Given the description of an element on the screen output the (x, y) to click on. 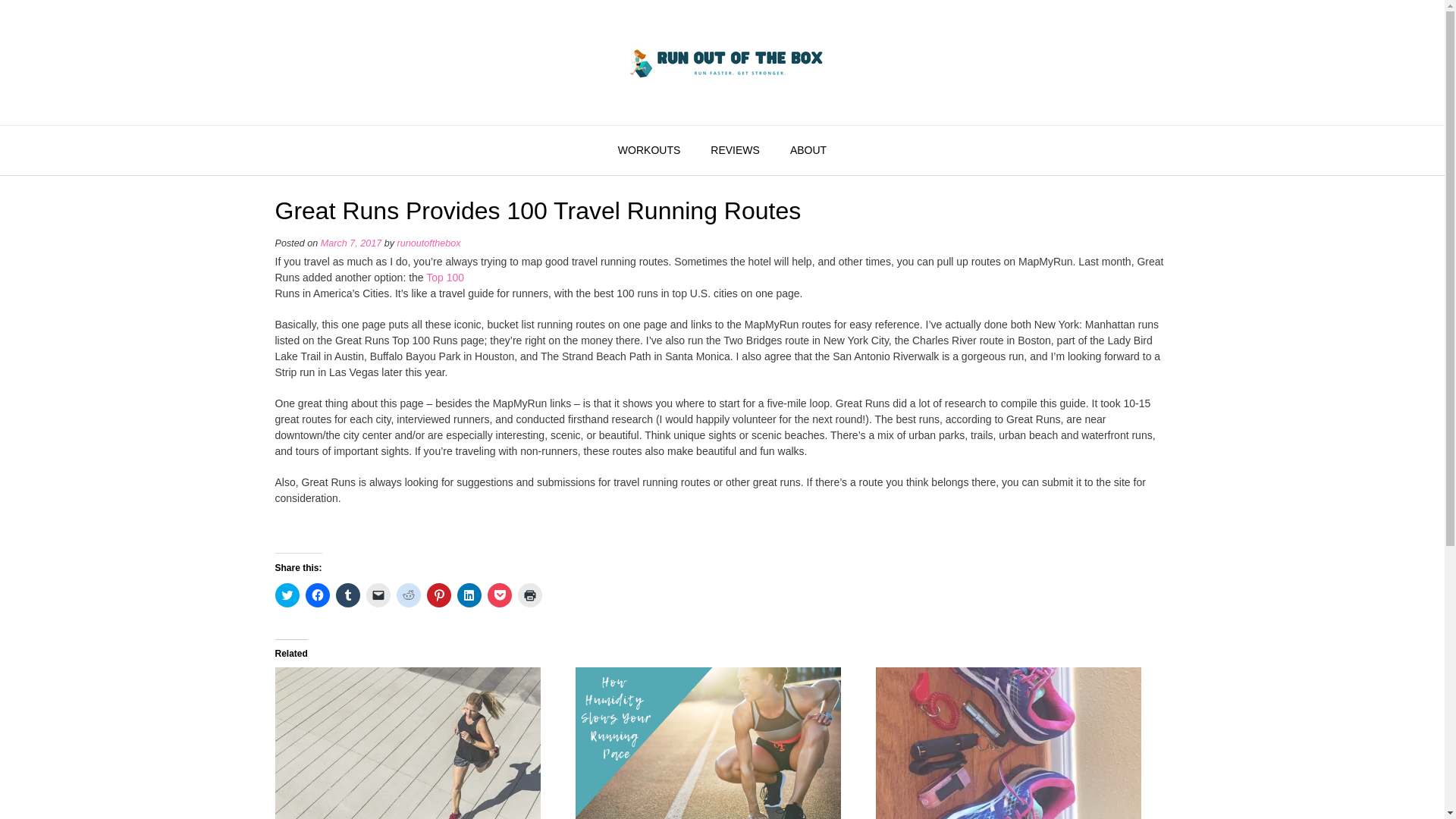
Click to share on Reddit (408, 595)
Click to share on Pocket (498, 595)
Click to share on Pinterest (437, 595)
Click to share on Twitter (286, 595)
REVIEWS (734, 151)
ABOUT (807, 151)
How Much Does Humidity Slow a Run? (717, 743)
WORKOUTS (648, 151)
Click to share on Facebook (316, 595)
Click to print (528, 595)
